Given the description of an element on the screen output the (x, y) to click on. 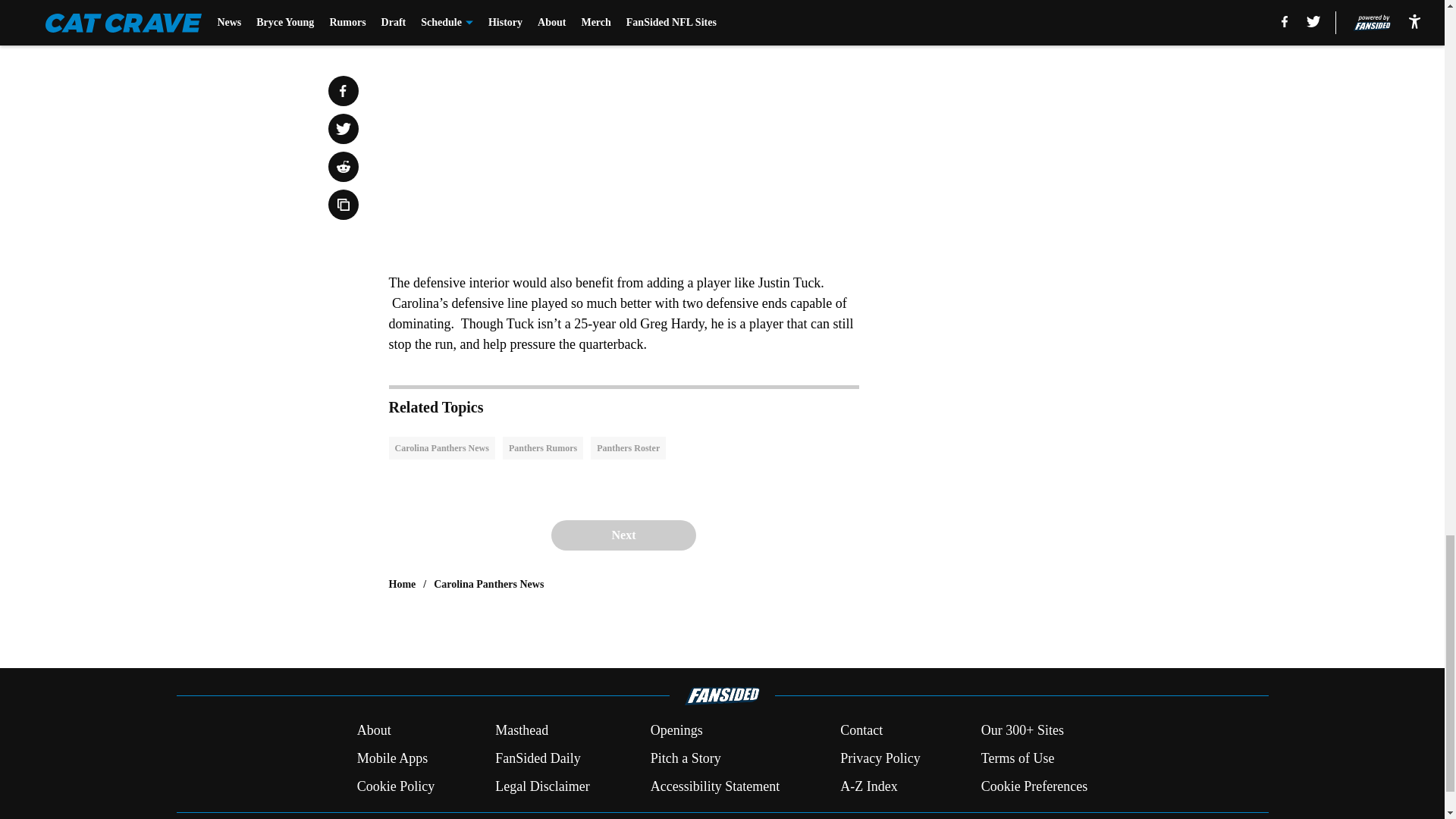
Panthers Roster (628, 447)
Panthers Rumors (542, 447)
Home (401, 584)
Carolina Panthers News (441, 447)
Openings (676, 730)
Masthead (521, 730)
About (373, 730)
Carolina Panthers News (488, 584)
Next (622, 535)
